Given the description of an element on the screen output the (x, y) to click on. 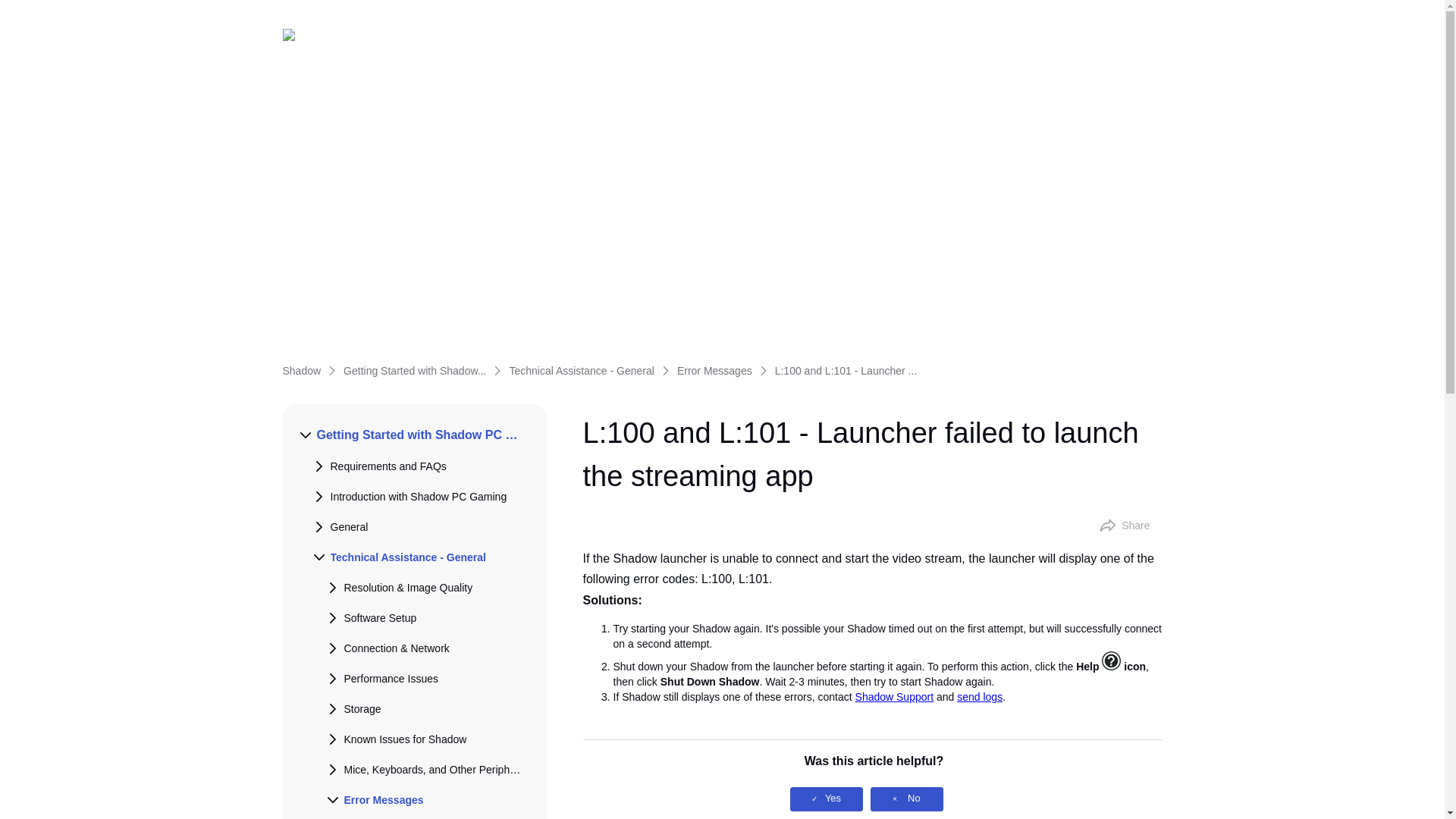
Technical Assistance - General (580, 370)
No (906, 799)
Getting Started with Shadow... (414, 370)
send logs (979, 696)
Error Messages (714, 370)
Shadow (309, 34)
Yes (826, 799)
Shadow Support (895, 696)
Shadow (301, 370)
Share (1125, 524)
